Given the description of an element on the screen output the (x, y) to click on. 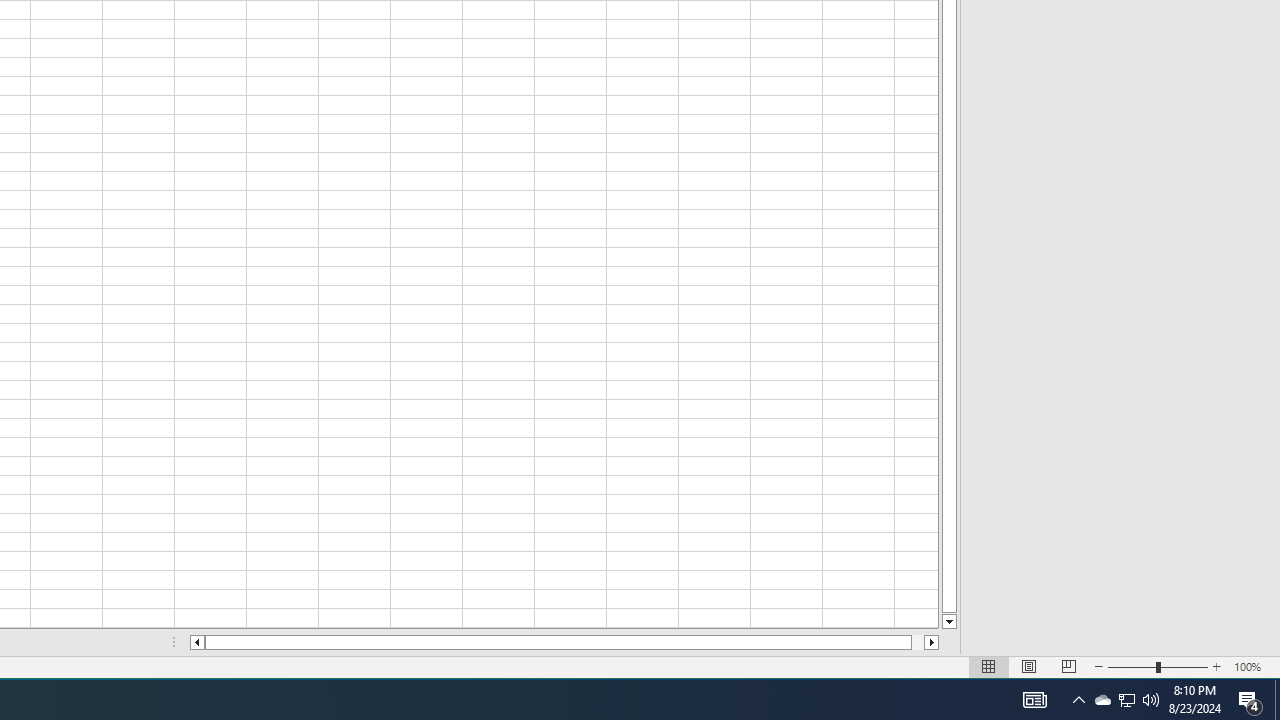
User Promoted Notification Area (1126, 699)
Show desktop (1277, 699)
Q2790: 100% (1102, 699)
Notification Chevron (1151, 699)
AutomationID: 4105 (1078, 699)
